Given the description of an element on the screen output the (x, y) to click on. 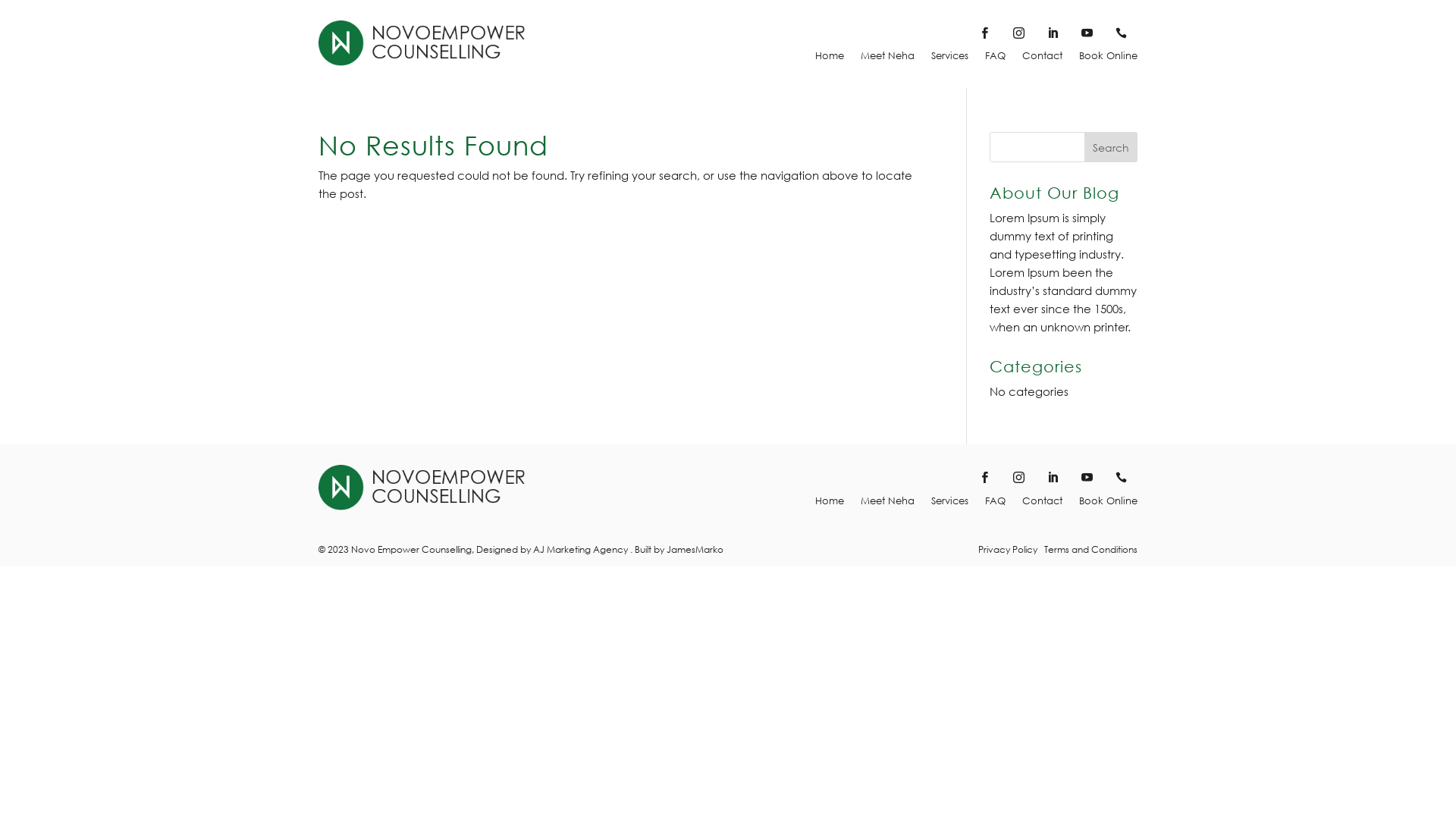
Book Online Element type: text (1108, 503)
Home Element type: text (829, 58)
   Element type: text (1021, 36)
Privacy Policy Element type: text (1007, 548)
Services Element type: text (949, 58)
Contact Element type: text (1042, 58)
Services Element type: text (949, 503)
FAQ Element type: text (995, 58)
Built by JamesMarko Element type: text (678, 548)
   Element type: text (1089, 480)
FAQ Element type: text (995, 503)
Meet Neha Element type: text (887, 503)
Terms and Conditions Element type: text (1090, 548)
   Element type: text (987, 480)
   Element type: text (1055, 36)
   Element type: text (987, 36)
Novo Empower Counselling Logo Element type: hover (421, 42)
Home Element type: text (829, 503)
   Element type: text (1055, 480)
   Element type: text (1021, 480)
Contact Element type: text (1042, 503)
Book Online Element type: text (1108, 58)
  Element type: text (1126, 36)
Novo Empower Counselling Logo Element type: hover (421, 487)
   Element type: text (1089, 36)
  Element type: text (1126, 480)
Designed by AJ Marketing Agency Element type: text (551, 548)
Search Element type: text (1110, 146)
Meet Neha Element type: text (887, 58)
